Given the description of an element on the screen output the (x, y) to click on. 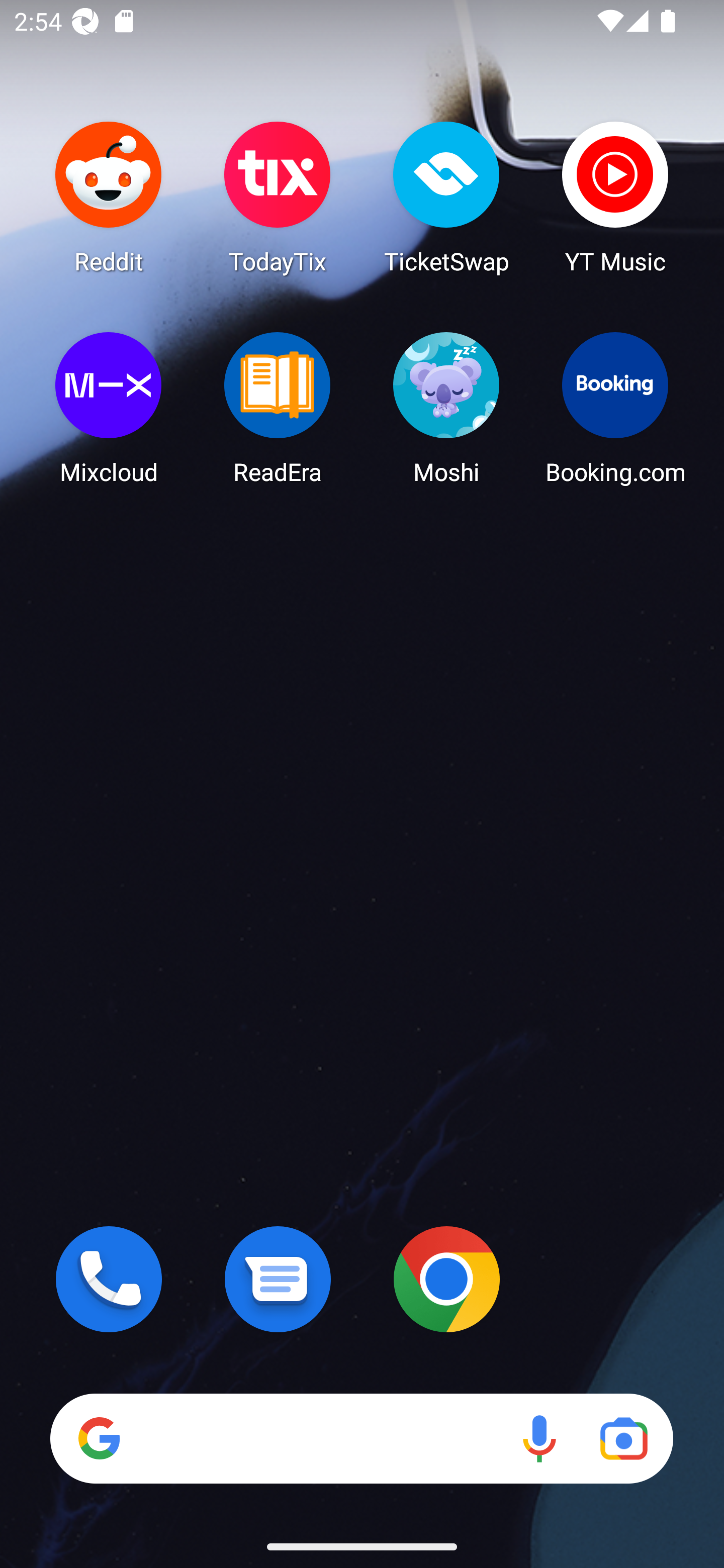
Reddit (108, 196)
TodayTix (277, 196)
TicketSwap (445, 196)
YT Music (615, 196)
Mixcloud (108, 407)
ReadEra (277, 407)
Moshi (445, 407)
Booking.com (615, 407)
Phone (108, 1279)
Messages (277, 1279)
Chrome (446, 1279)
Search Voice search Google Lens (361, 1438)
Voice search (539, 1438)
Google Lens (623, 1438)
